Given the description of an element on the screen output the (x, y) to click on. 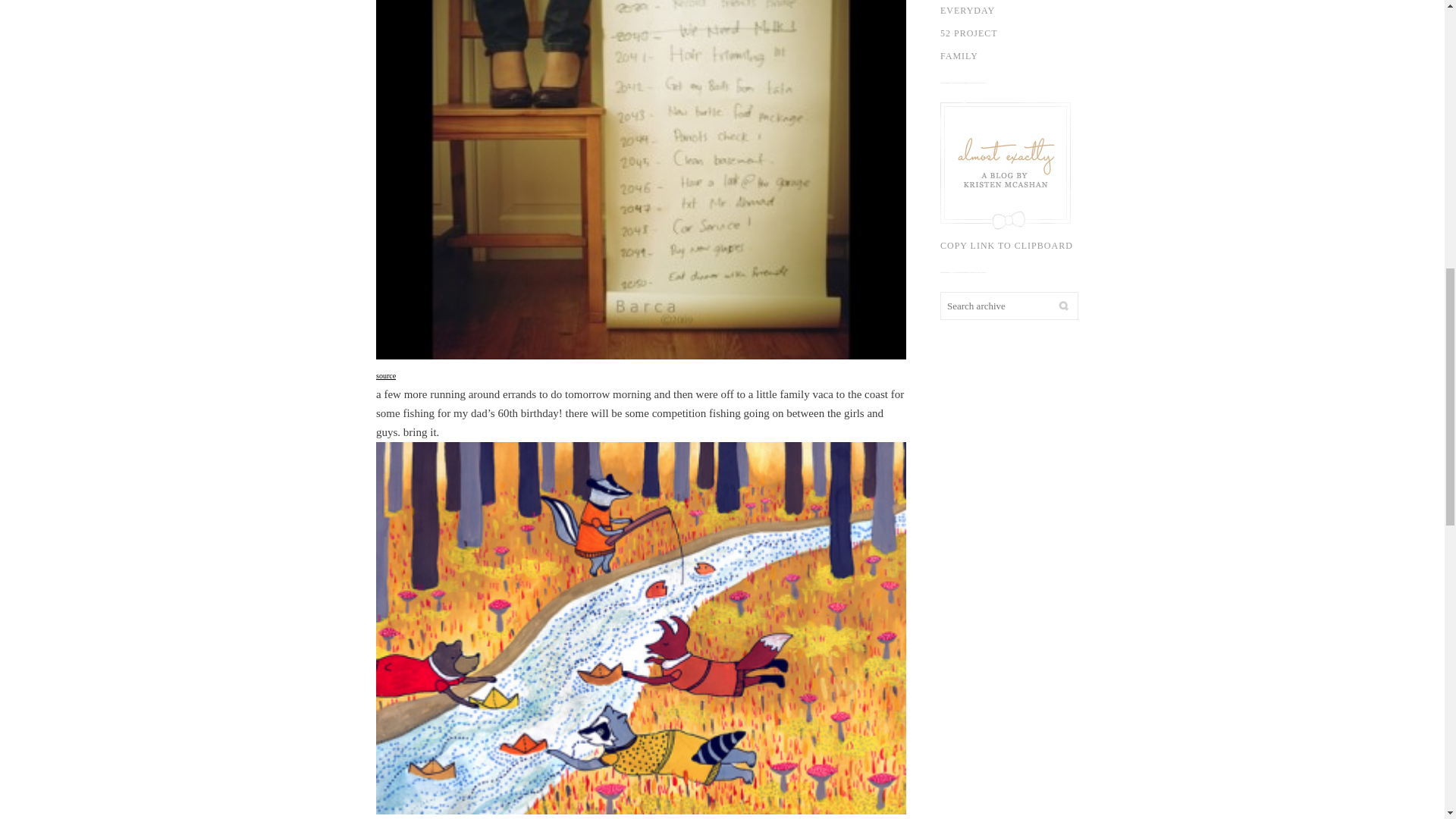
FAMILY (1021, 56)
COPY LINK TO CLIPBOARD (1021, 179)
EVERYDAY (1021, 11)
52 PROJECT (1021, 33)
source (385, 374)
